Given the description of an element on the screen output the (x, y) to click on. 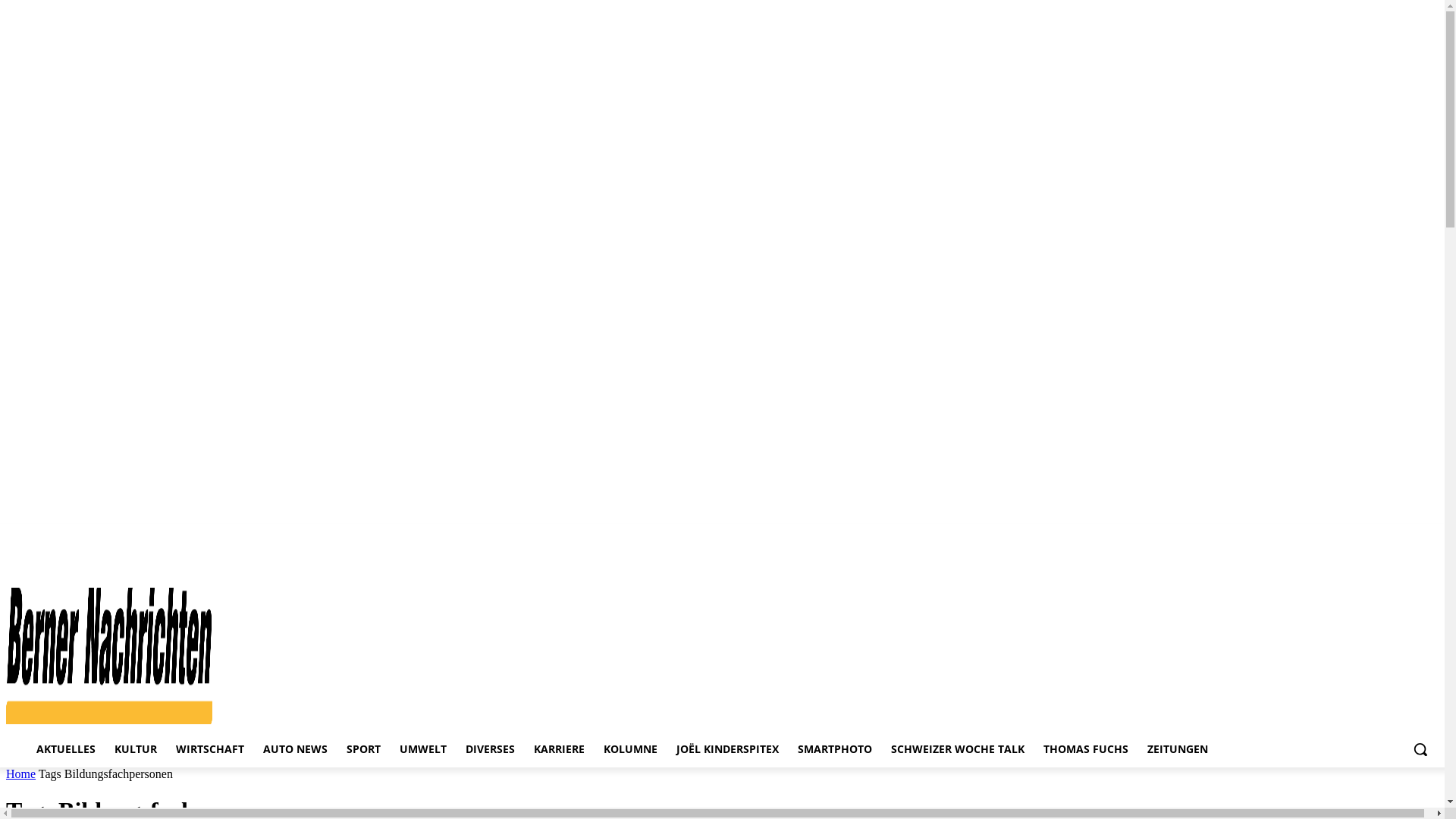
Impressum Element type: text (1263, 555)
KULTUR Element type: text (135, 749)
WIRTSCHAFT Element type: text (209, 749)
SCHWEIZER WOCHE TALK Element type: text (957, 749)
AUTO NEWS Element type: text (295, 749)
DIVERSES Element type: text (489, 749)
E-Paper Element type: text (1312, 555)
KOLUMNE Element type: text (630, 749)
Leitbild Element type: text (1423, 555)
SMARTPHOTO Element type: text (834, 749)
KARRIERE Element type: text (558, 749)
ZEITUNGEN Element type: text (1177, 749)
AKTUELLES Element type: text (65, 749)
Tarife Element type: text (1354, 555)
SPORT Element type: text (363, 749)
THOMAS FUCHS Element type: text (1085, 749)
Home Element type: text (20, 773)
UMWELT Element type: text (422, 749)
AGB Element type: text (1388, 555)
